Given the description of an element on the screen output the (x, y) to click on. 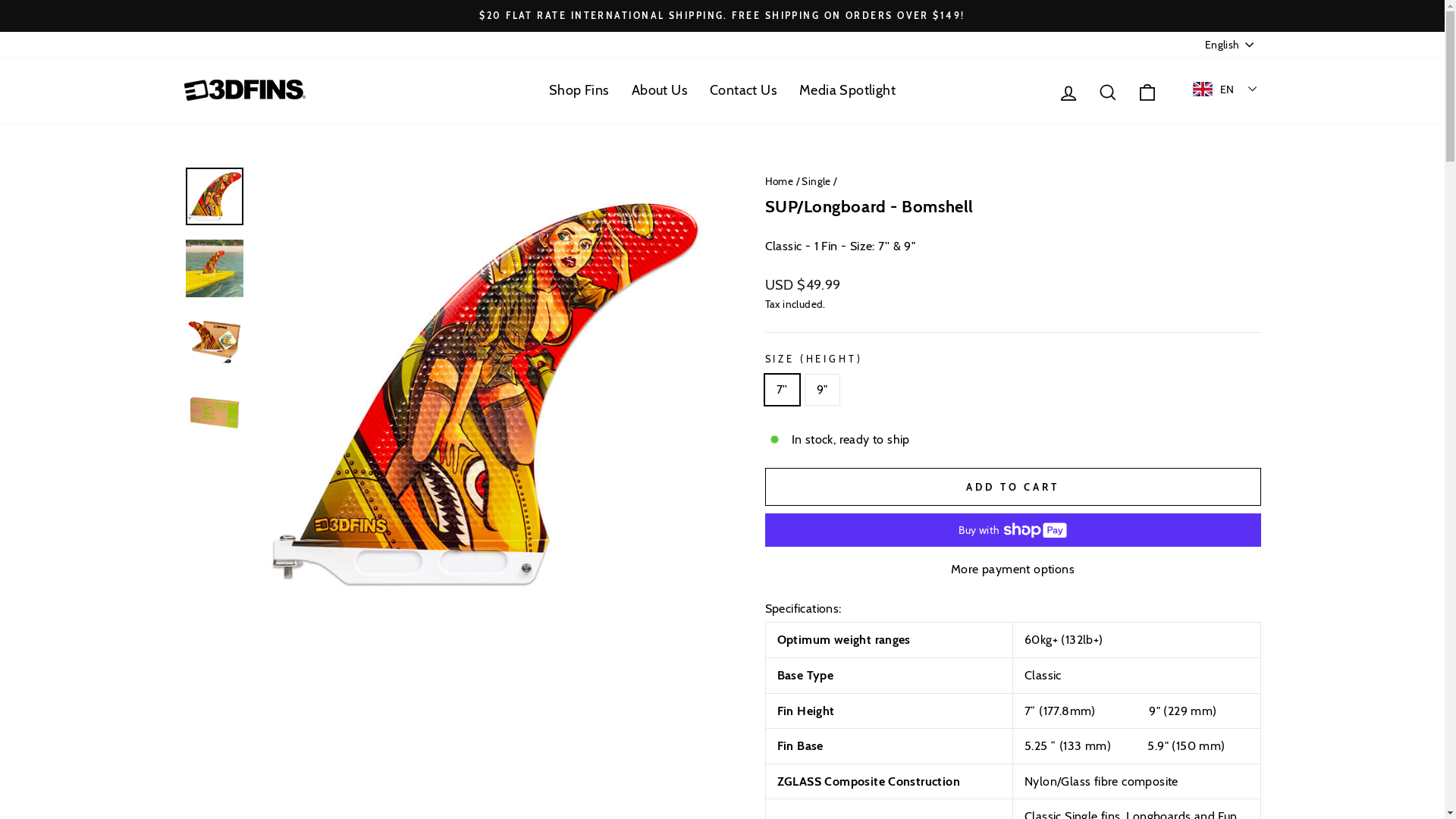
Media Spotlight Element type: text (846, 89)
ADD TO CART Element type: text (1012, 486)
More payment options Element type: text (1012, 569)
Cart Element type: text (1147, 91)
Single Element type: text (815, 180)
Home Element type: text (778, 180)
Shop Fins Element type: text (578, 89)
Log in Element type: text (1068, 91)
Skip to content Element type: text (0, 0)
About Us Element type: text (659, 89)
English Element type: text (1230, 44)
Search Element type: text (1107, 91)
Contact Us Element type: text (742, 89)
